Given the description of an element on the screen output the (x, y) to click on. 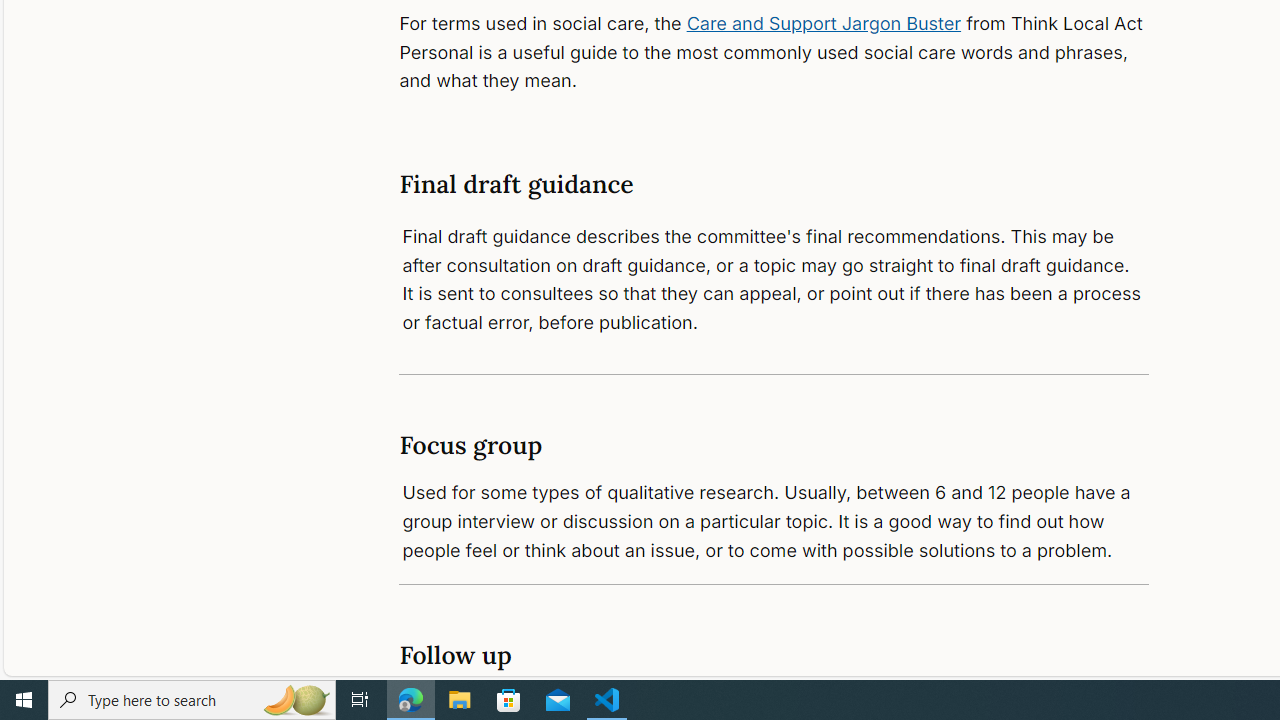
Care and Support Jargon Buster (824, 22)
